Given the description of an element on the screen output the (x, y) to click on. 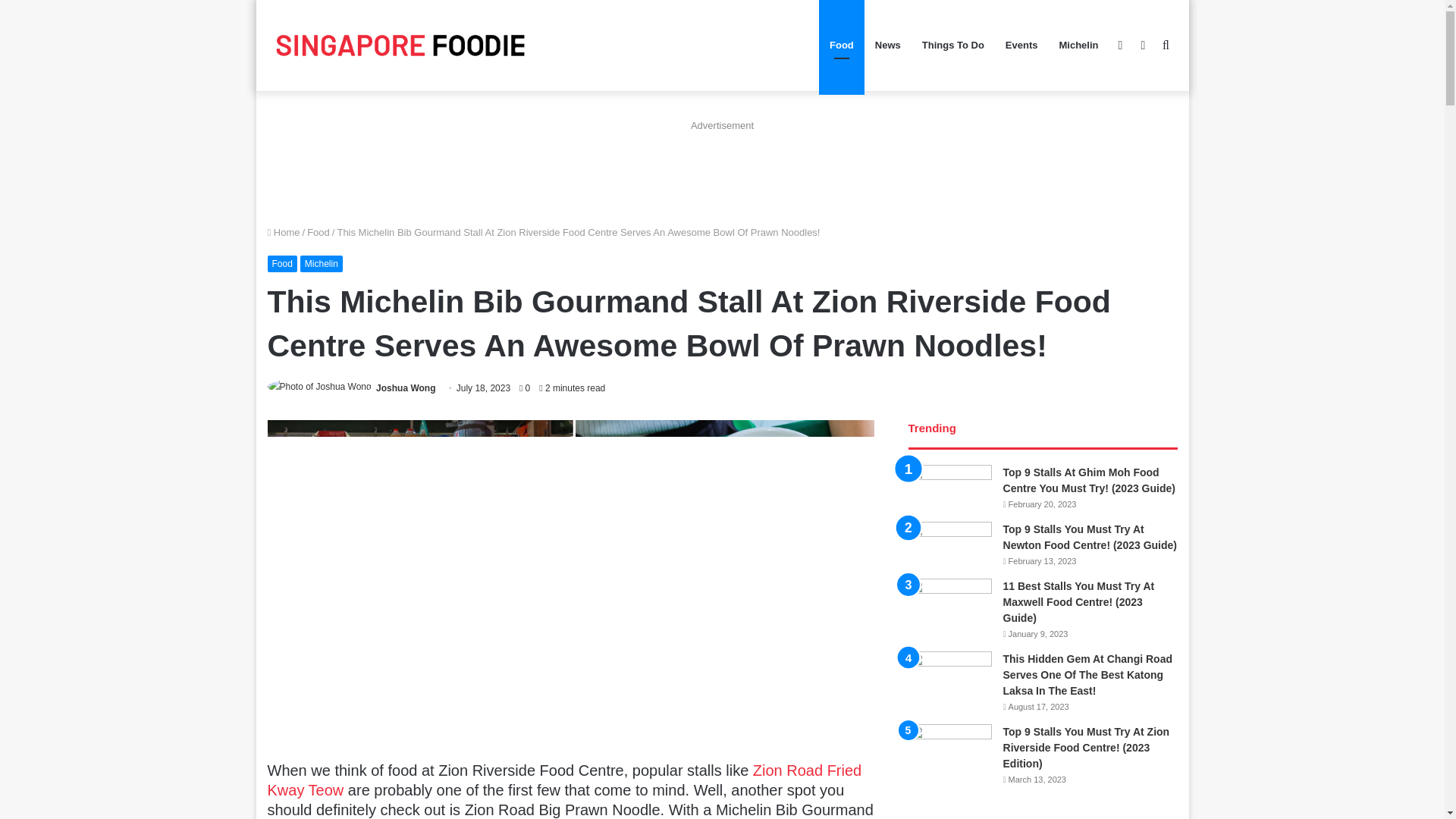
Food (318, 232)
Michelin (320, 263)
Things To Do (952, 45)
Singapore Foodie (399, 44)
Joshua Wong (405, 388)
Zion Road Fried Kway Teow (563, 780)
Food (281, 263)
Joshua Wong (405, 388)
Home (282, 232)
